Given the description of an element on the screen output the (x, y) to click on. 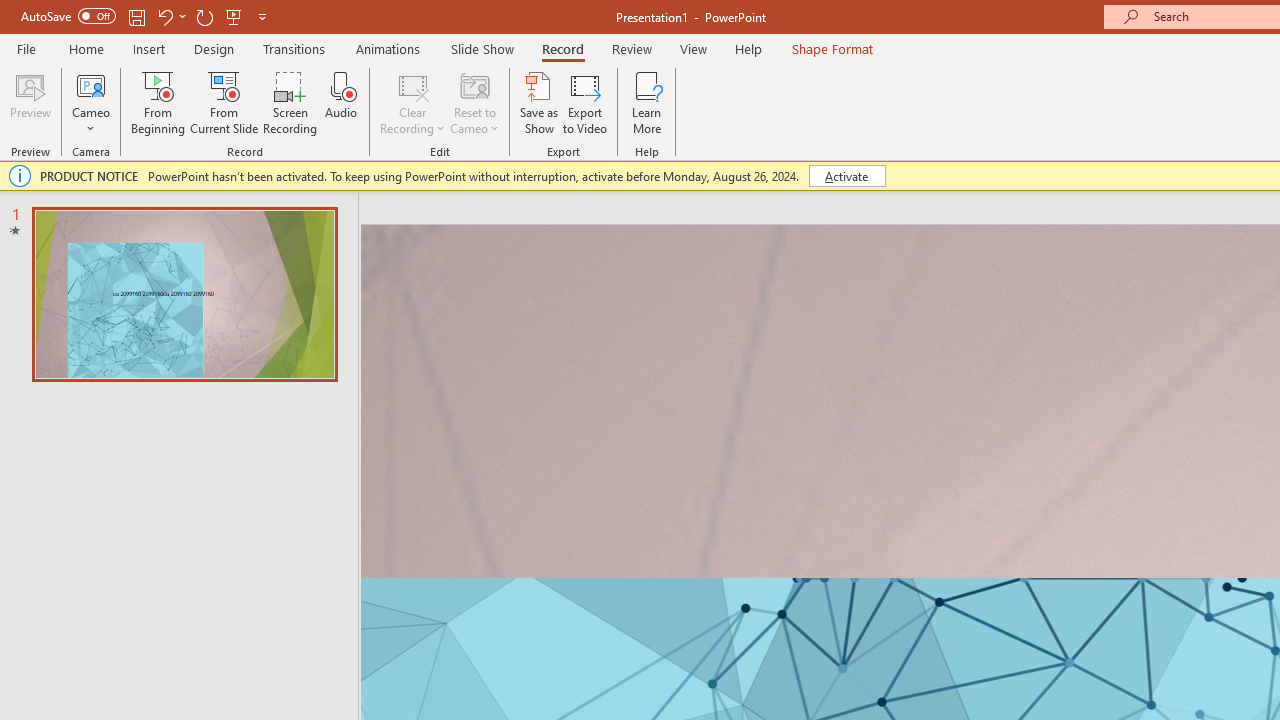
Export to Video (585, 102)
